Given the description of an element on the screen output the (x, y) to click on. 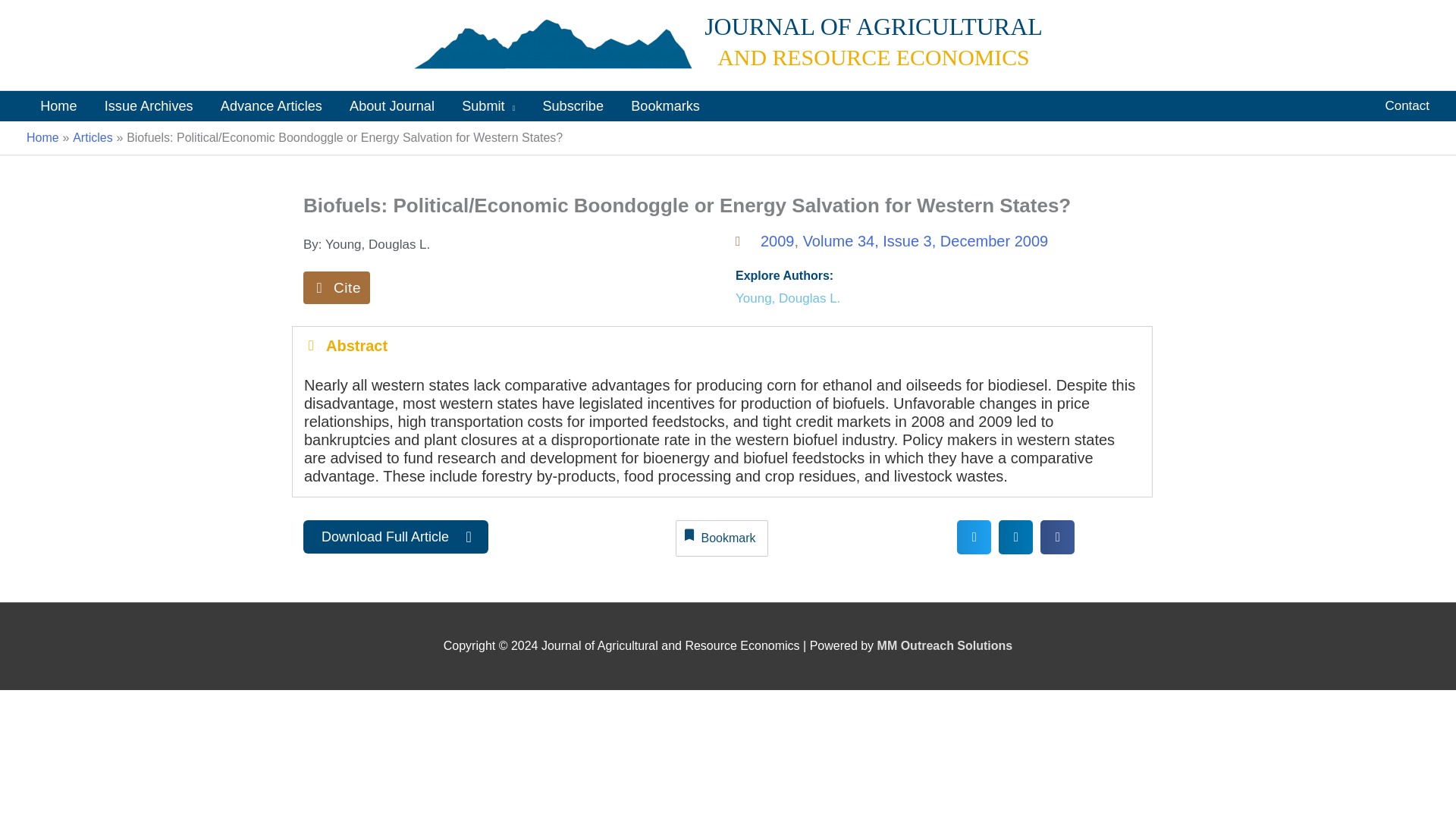
JOURNAL OF AGRICULTURAL (873, 26)
About Journal (392, 105)
Home (42, 137)
Subscribe (572, 105)
Young, Douglas L. (787, 298)
Bookmark (721, 538)
Issue Archives (148, 105)
Bookmarks (665, 105)
Volume 34, Issue 3, December 2009 (925, 240)
Contact (1406, 105)
